Given the description of an element on the screen output the (x, y) to click on. 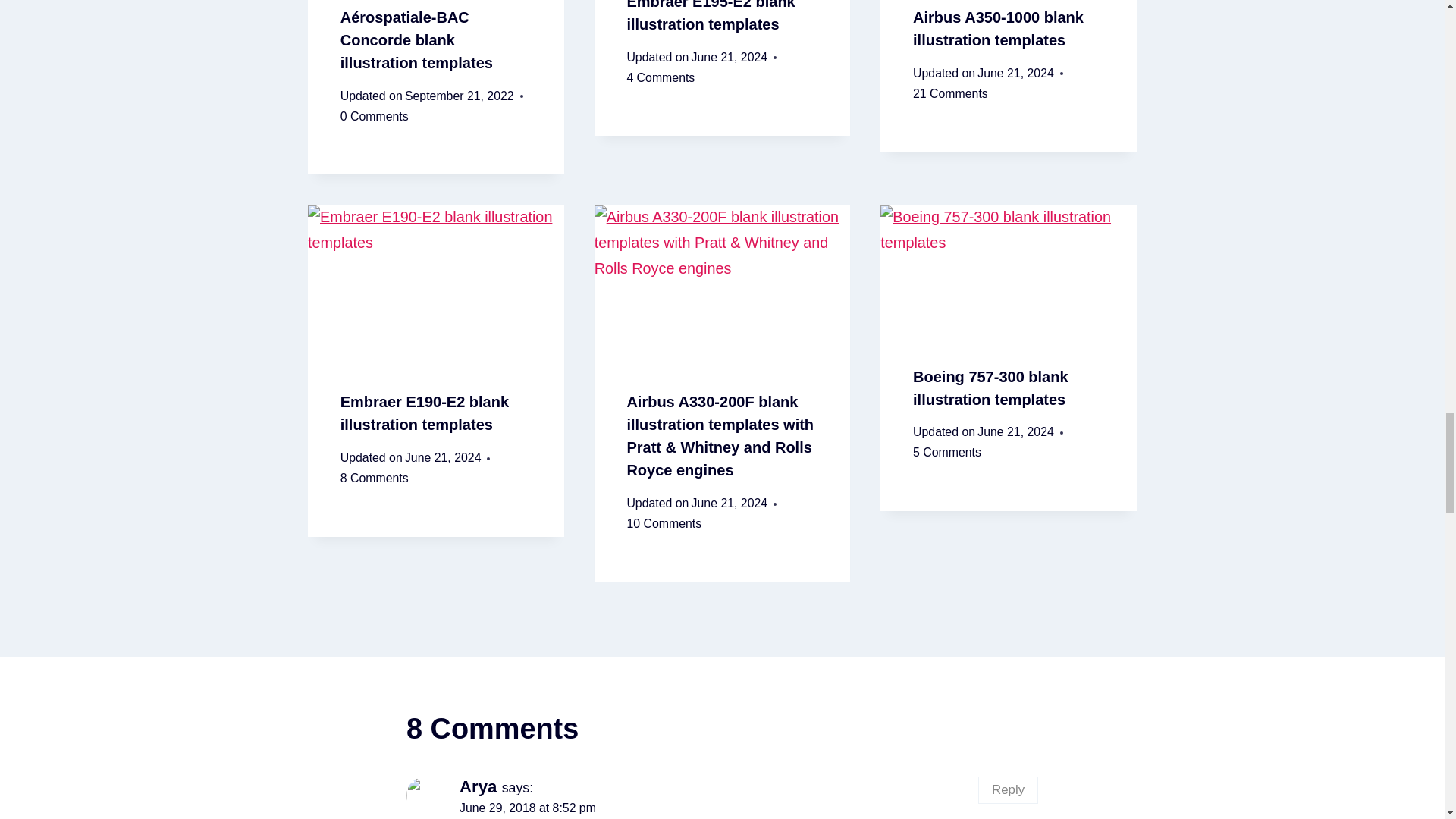
10 Comments (663, 524)
21 Comments (950, 94)
Airbus A350-1000 blank illustration templates (997, 28)
5 Comments (946, 453)
0 Comments (374, 117)
21 Comments (950, 94)
4 Comments (660, 77)
Embraer E195-E2 blank illustration templates (710, 16)
8 Comments (374, 478)
0 Comments (374, 117)
4 Comments (660, 77)
